Given the description of an element on the screen output the (x, y) to click on. 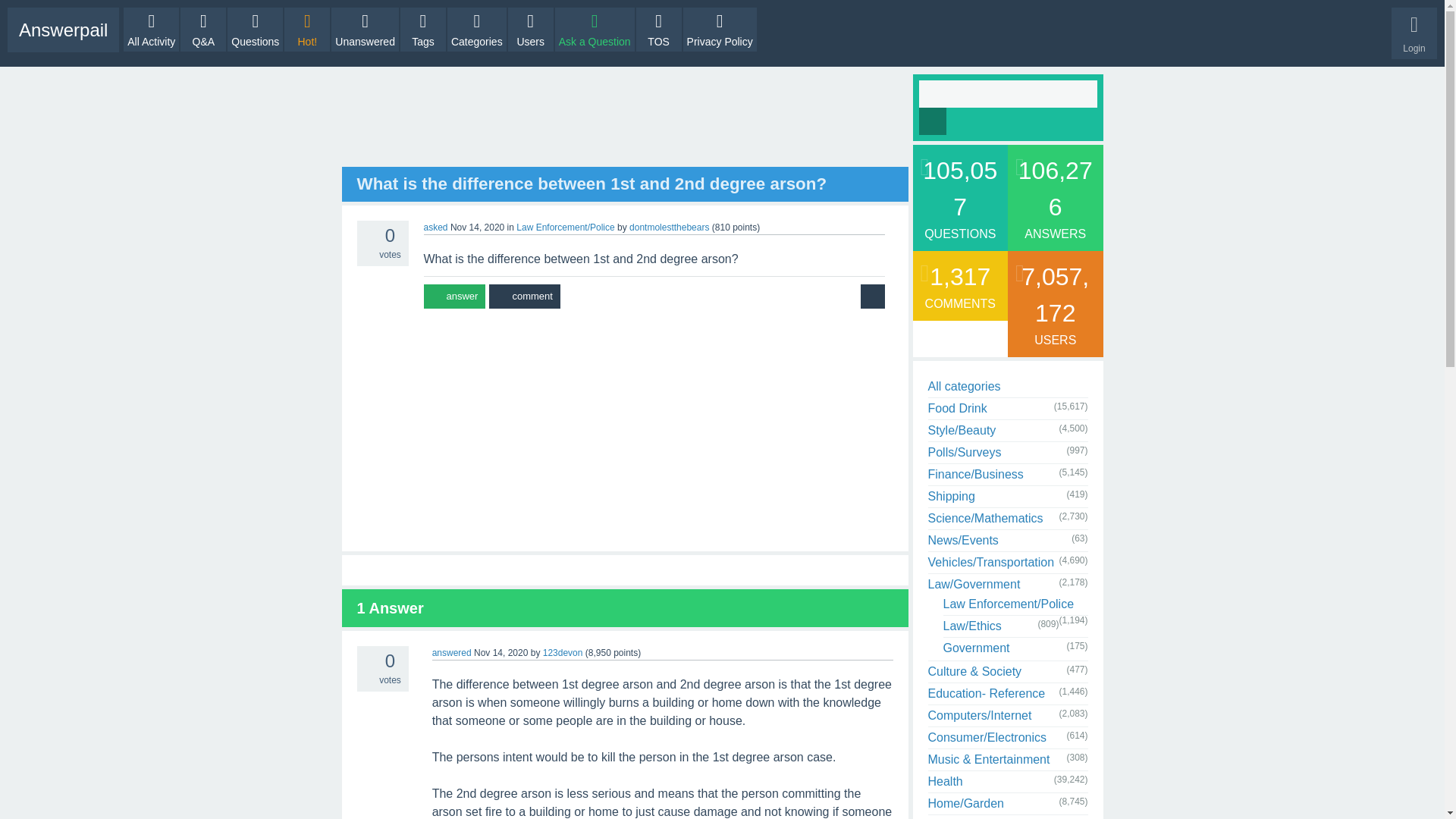
asked (434, 226)
Questions (254, 29)
Search (932, 121)
TOS (658, 29)
All Activity (151, 29)
Ask a Question (594, 29)
Users (530, 29)
Add a comment on this question (524, 296)
Search (932, 121)
Answer this question (453, 296)
